Given the description of an element on the screen output the (x, y) to click on. 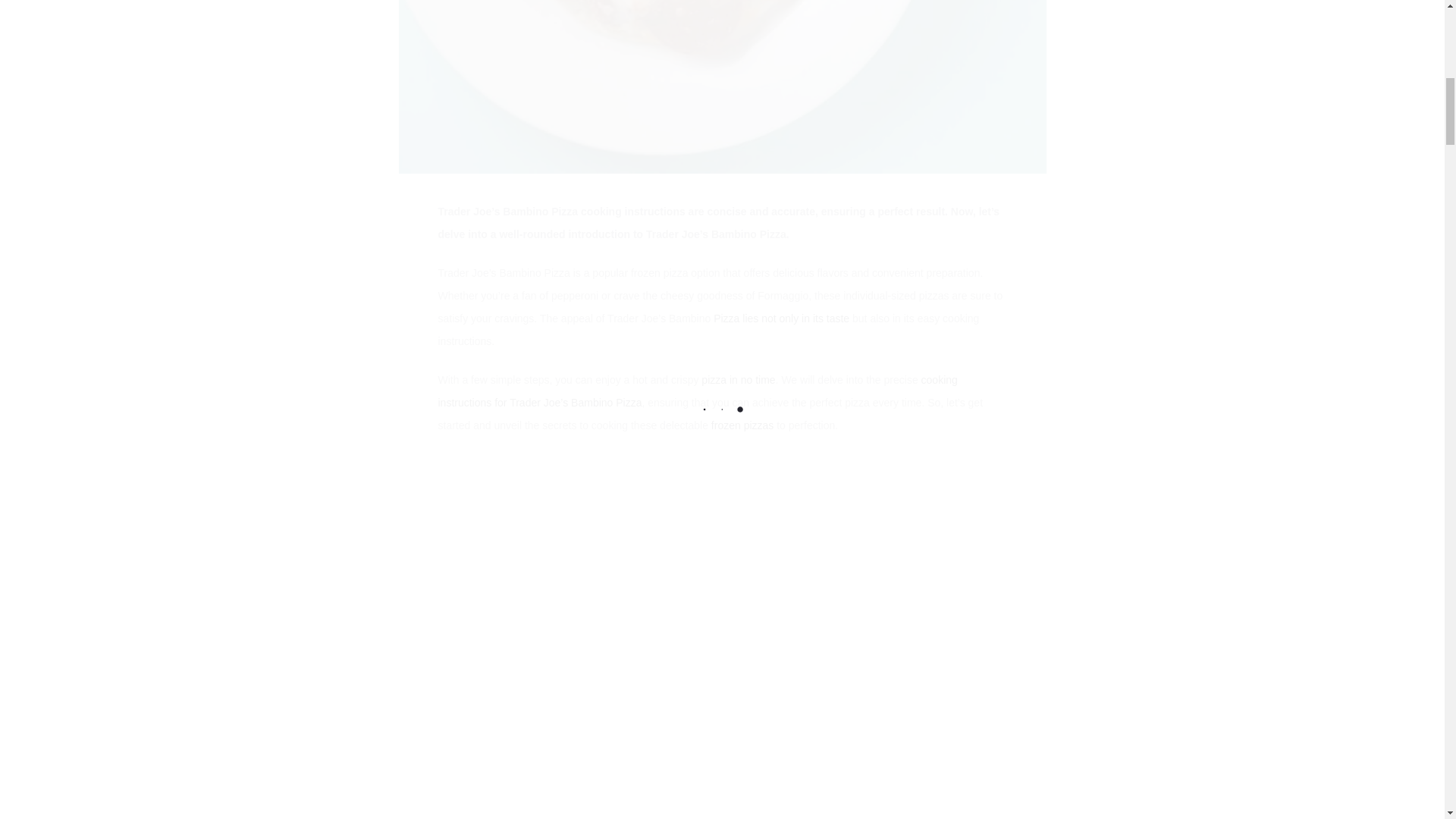
pizza in no time (737, 379)
TraderJoesBambinoPepperoniPizza6 Ultimate Pizza Guide (722, 86)
frozen pizzas (742, 425)
Pizza lies not only in its taste (780, 318)
